Given the description of an element on the screen output the (x, y) to click on. 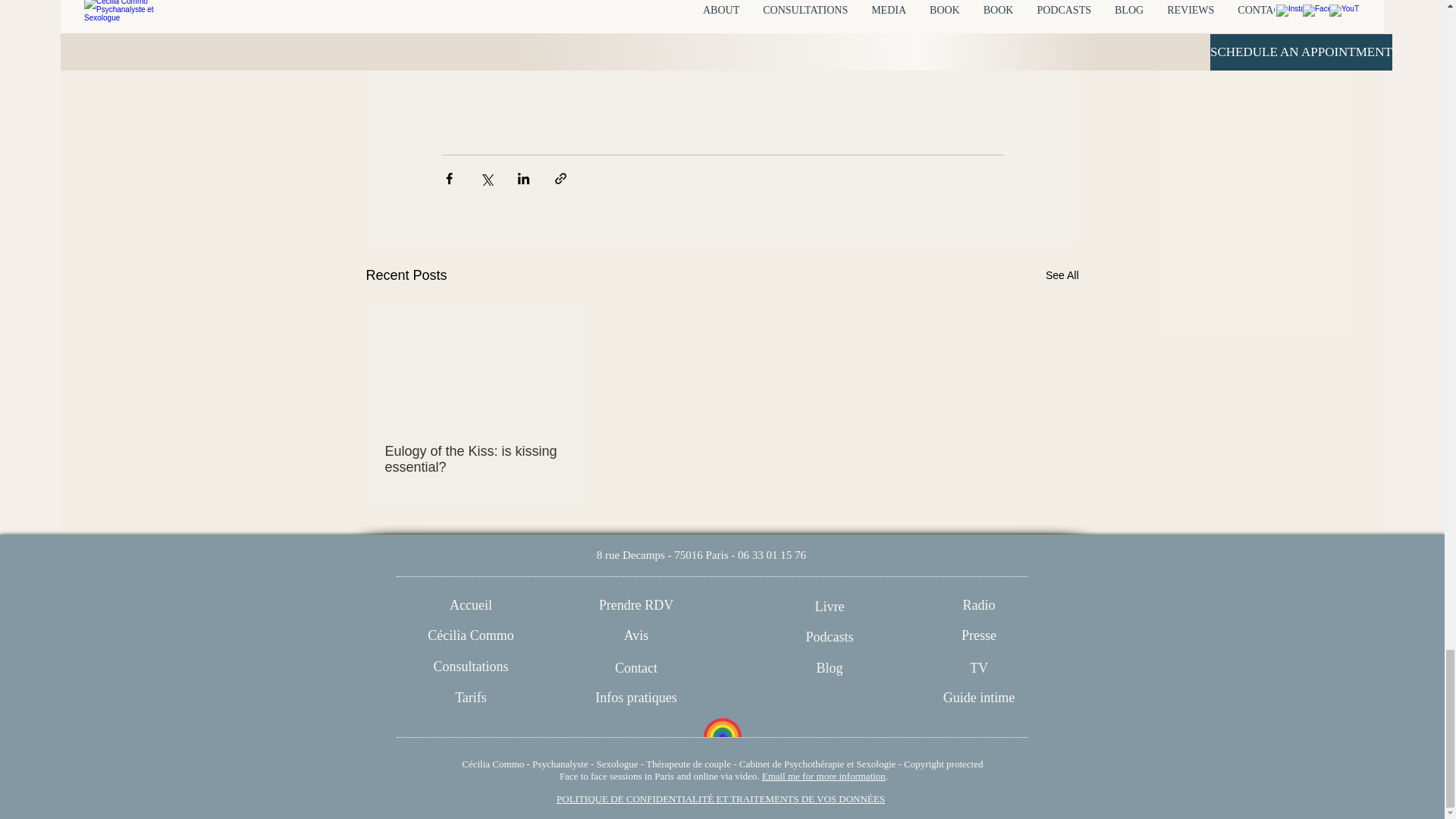
Eulogy of the Kiss: is kissing essential? (476, 459)
Podcasts (829, 637)
Infos pratiques (635, 697)
Consultations (471, 666)
Accueil (471, 605)
Prendre RDV (635, 605)
Avis (635, 635)
Livre (829, 606)
See All (1061, 275)
Tarifs (471, 697)
Contact (635, 668)
